Given the description of an element on the screen output the (x, y) to click on. 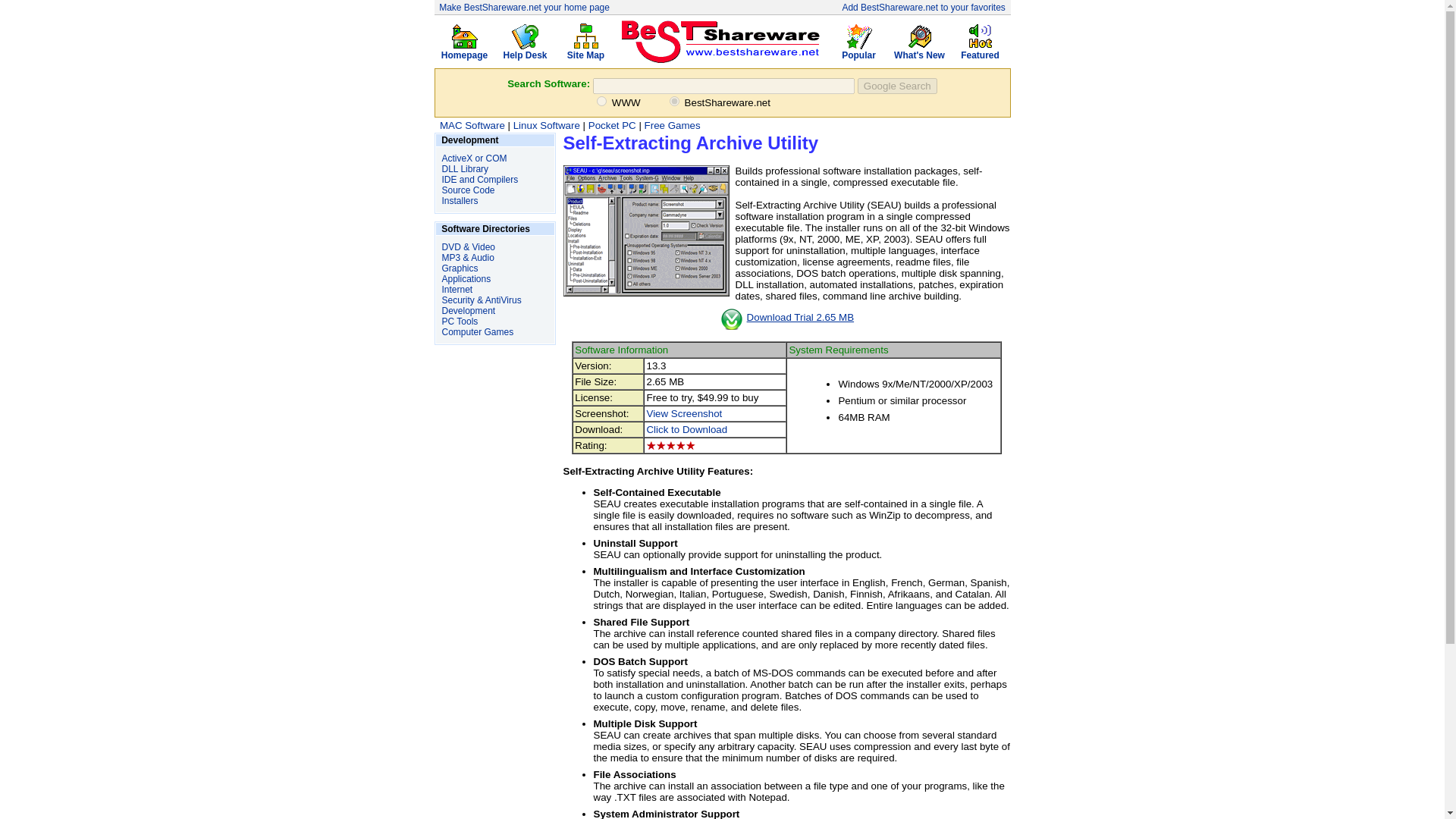
Featured (979, 50)
Internet (456, 289)
Source Code (468, 190)
IDE and Compilers (479, 179)
Click to Download (686, 429)
Computer Games (477, 331)
Help Desk (524, 50)
MAC Software (472, 125)
ActiveX or COM (473, 158)
Free Games (672, 125)
